Given the description of an element on the screen output the (x, y) to click on. 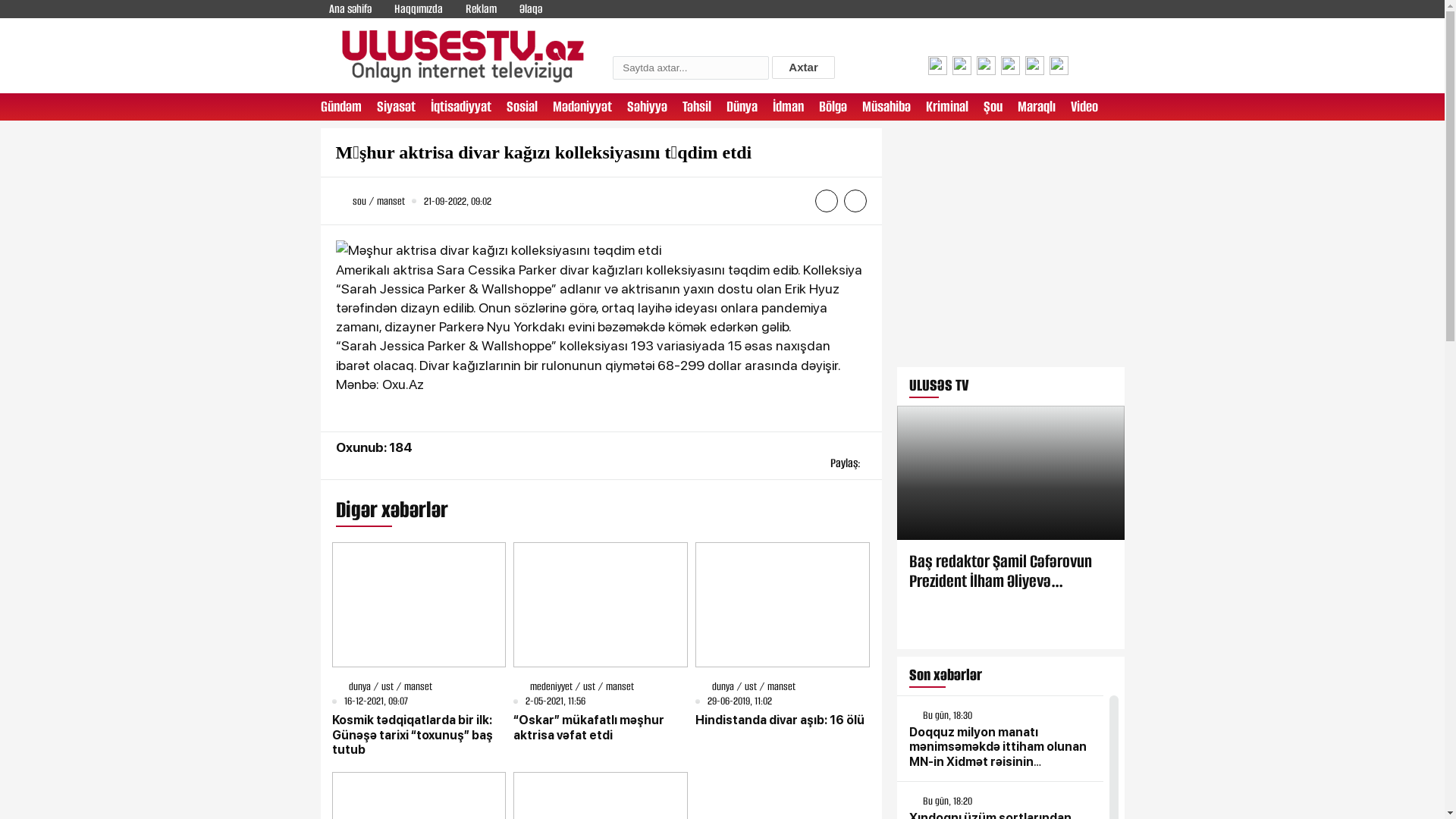
Kriminal Element type: text (946, 107)
Sosial Element type: text (521, 107)
YouTube video player Element type: hover (1009, 247)
Video Element type: text (1084, 107)
Reklam Element type: text (480, 8)
Axtar Element type: text (802, 67)
